Given the description of an element on the screen output the (x, y) to click on. 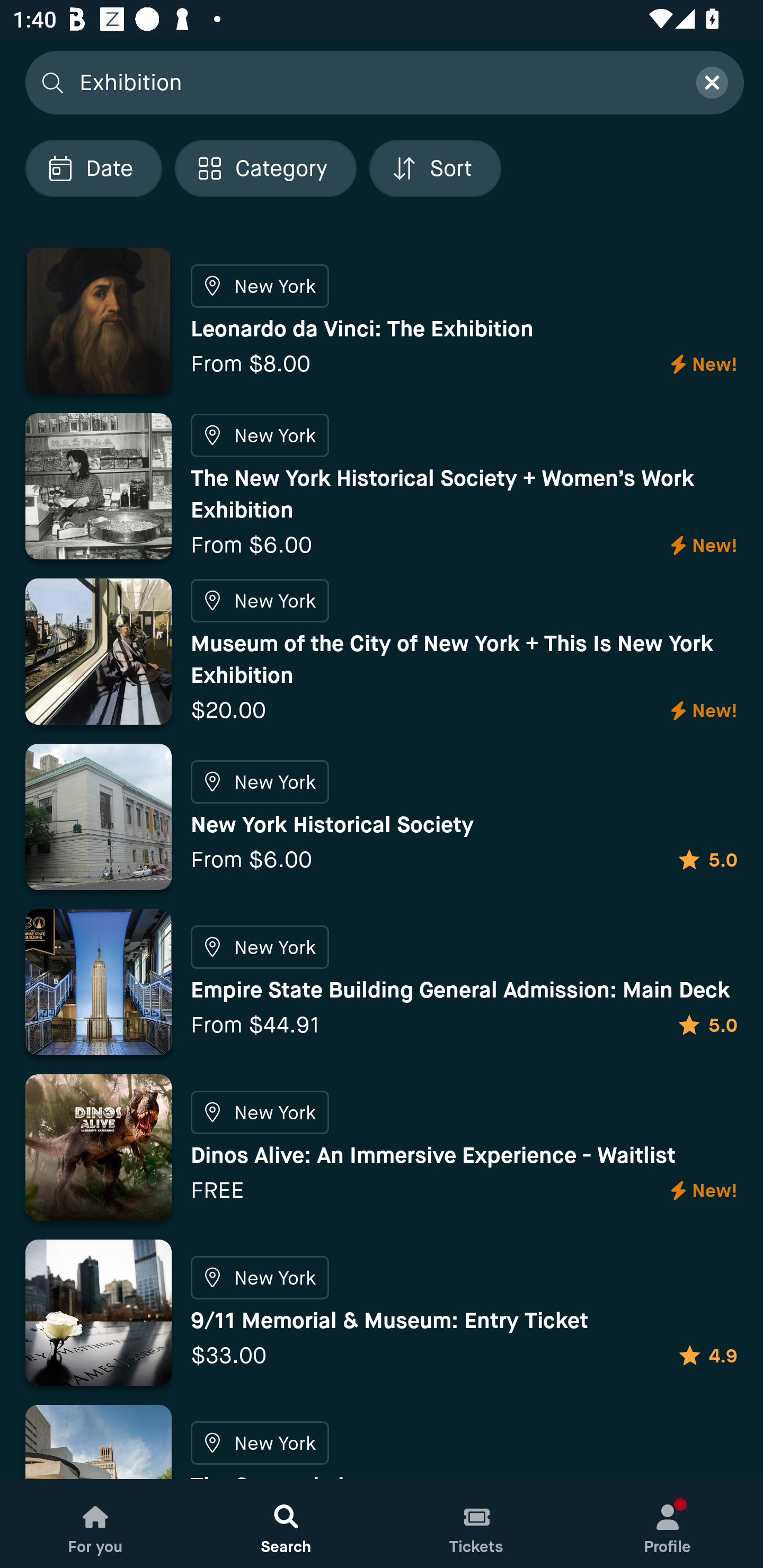
Exhibition (376, 81)
Localized description Date (93, 168)
Localized description Category (265, 168)
Localized description Sort (435, 168)
UpcomingEventImage New York The Guggenheim (381, 1441)
For you (95, 1523)
Tickets (476, 1523)
Profile, New notification Profile (667, 1523)
